Given the description of an element on the screen output the (x, y) to click on. 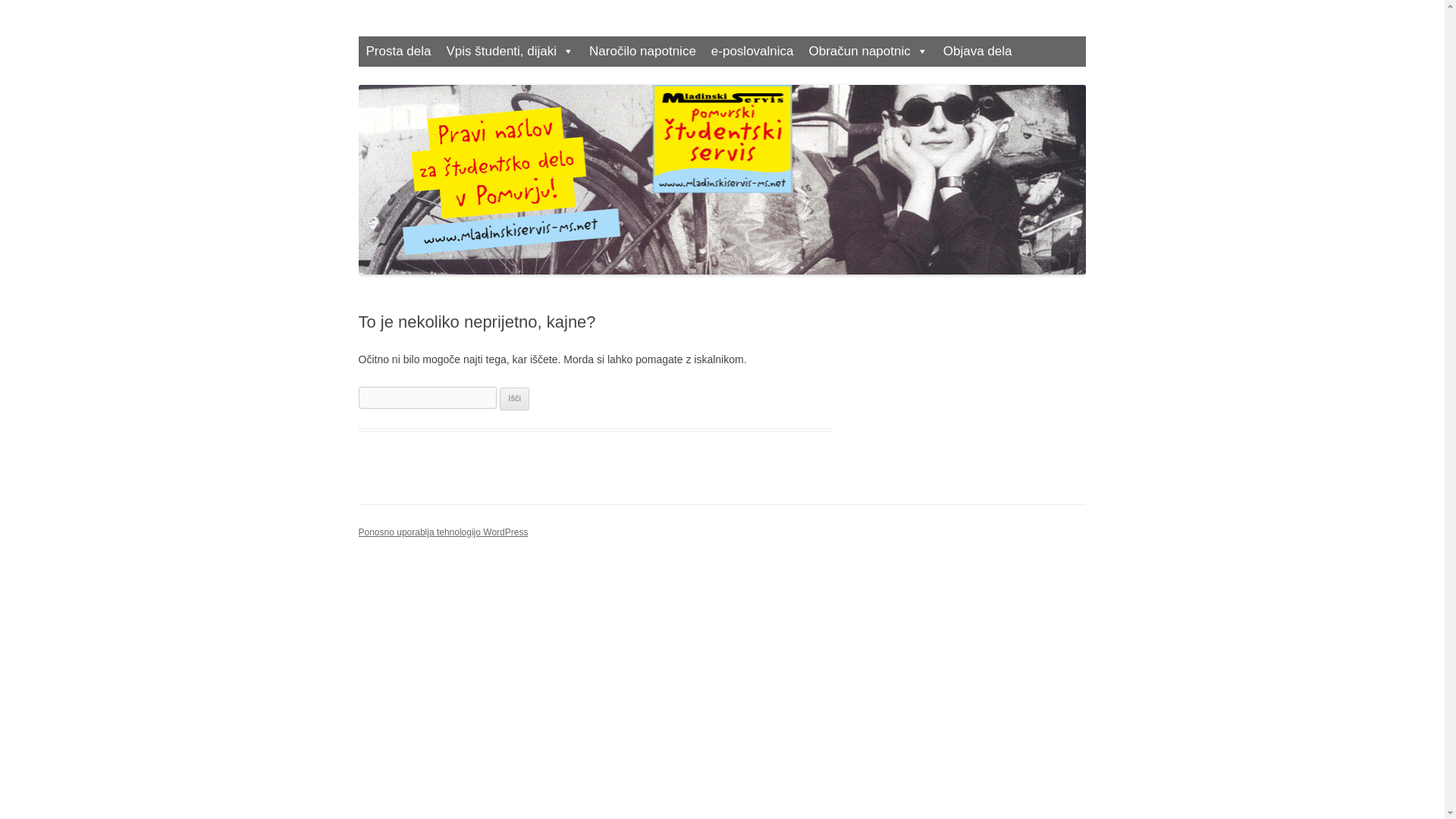
e-poslovalnica (752, 51)
Ponosno uporablja tehnologijo WordPress (442, 532)
Objava dela (978, 51)
Prosta dela (398, 51)
Mladinski servis Murska Sobota (507, 36)
Mladinski servis Murska Sobota (507, 36)
